Given the description of an element on the screen output the (x, y) to click on. 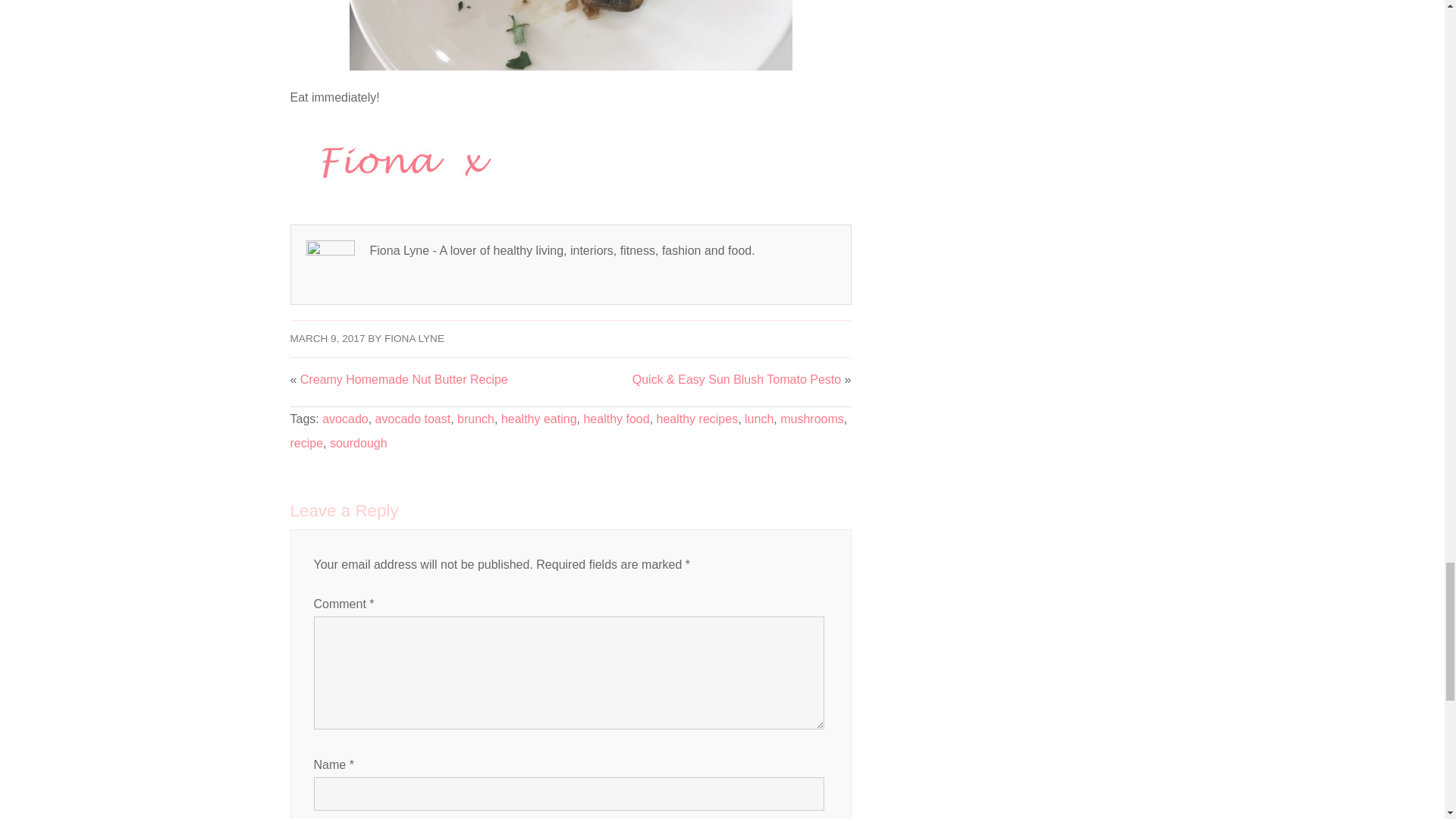
sourdough (358, 442)
recipe (306, 442)
avocado (344, 418)
avocado toast (413, 418)
healthy eating (538, 418)
healthy food (616, 418)
Creamy Homemade Nut Butter Recipe (403, 379)
healthy recipes (697, 418)
mushrooms (812, 418)
lunch (758, 418)
brunch (476, 418)
